Given the description of an element on the screen output the (x, y) to click on. 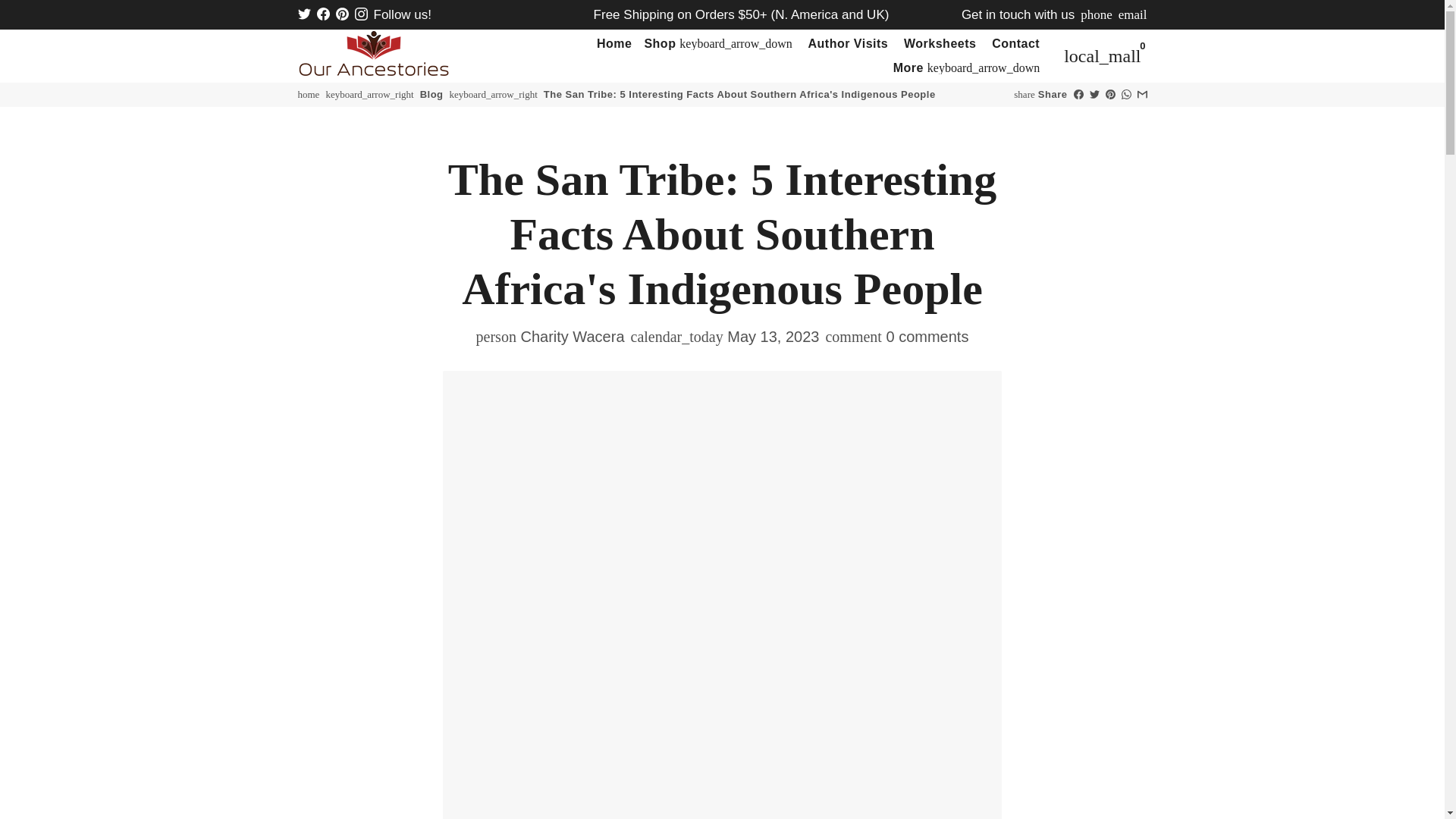
4162719976 (1096, 14)
Our Ancestories on Pinterest (340, 14)
Our Ancestories on Facebook (323, 14)
Our Ancestories on Instagram (361, 14)
Home (614, 43)
phone (1096, 14)
email (1132, 14)
Our Ancestories on Twitter (303, 14)
Cart (1102, 55)
